Given the description of an element on the screen output the (x, y) to click on. 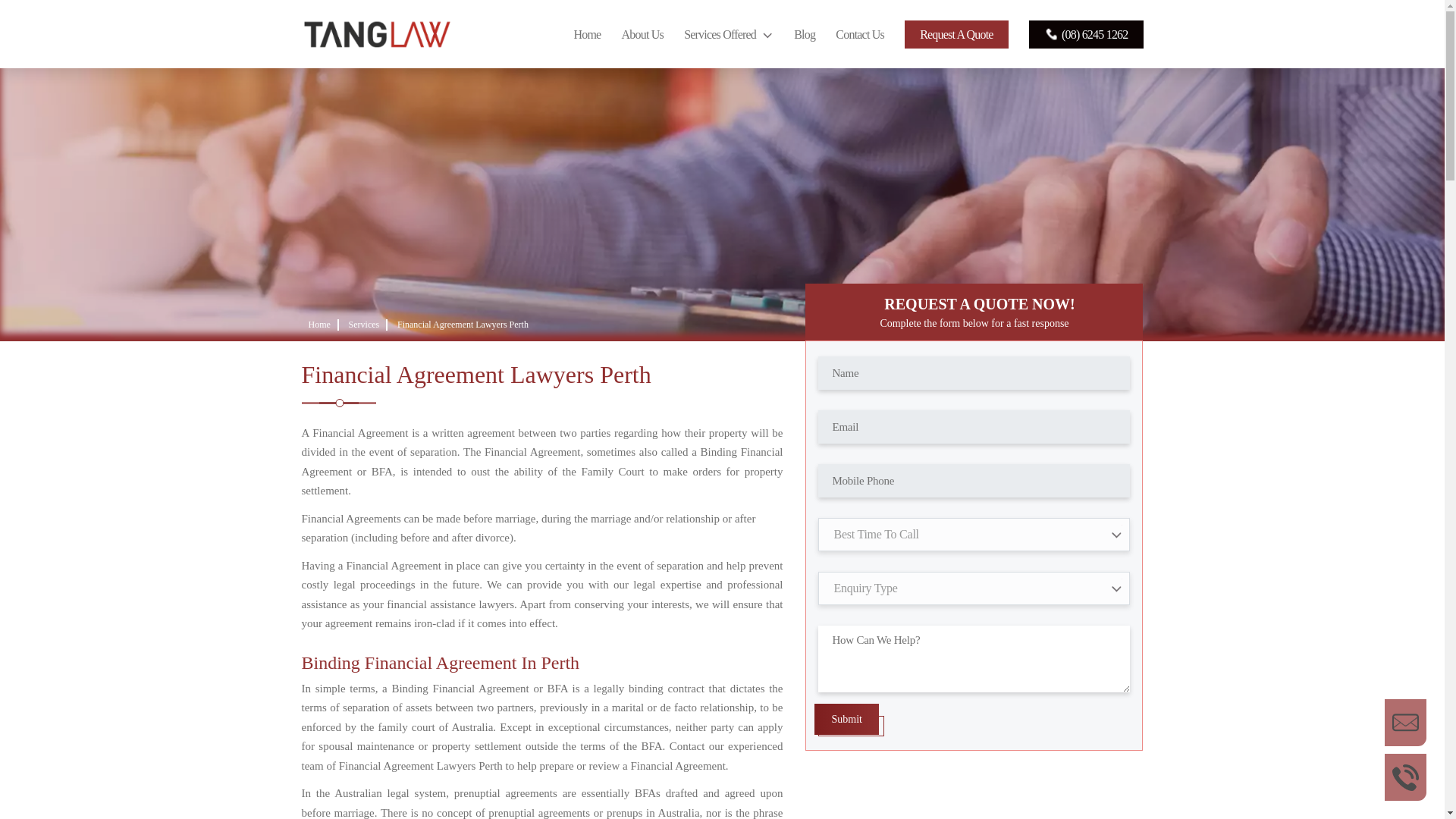
About Us (642, 33)
Blog (804, 33)
Home (318, 324)
Financial Agreement Lawyers Perth (462, 324)
Request A Quote (955, 34)
Home (586, 33)
Contact Us (859, 33)
Services Offered (728, 33)
Submit (845, 718)
Services (364, 324)
